Given the description of an element on the screen output the (x, y) to click on. 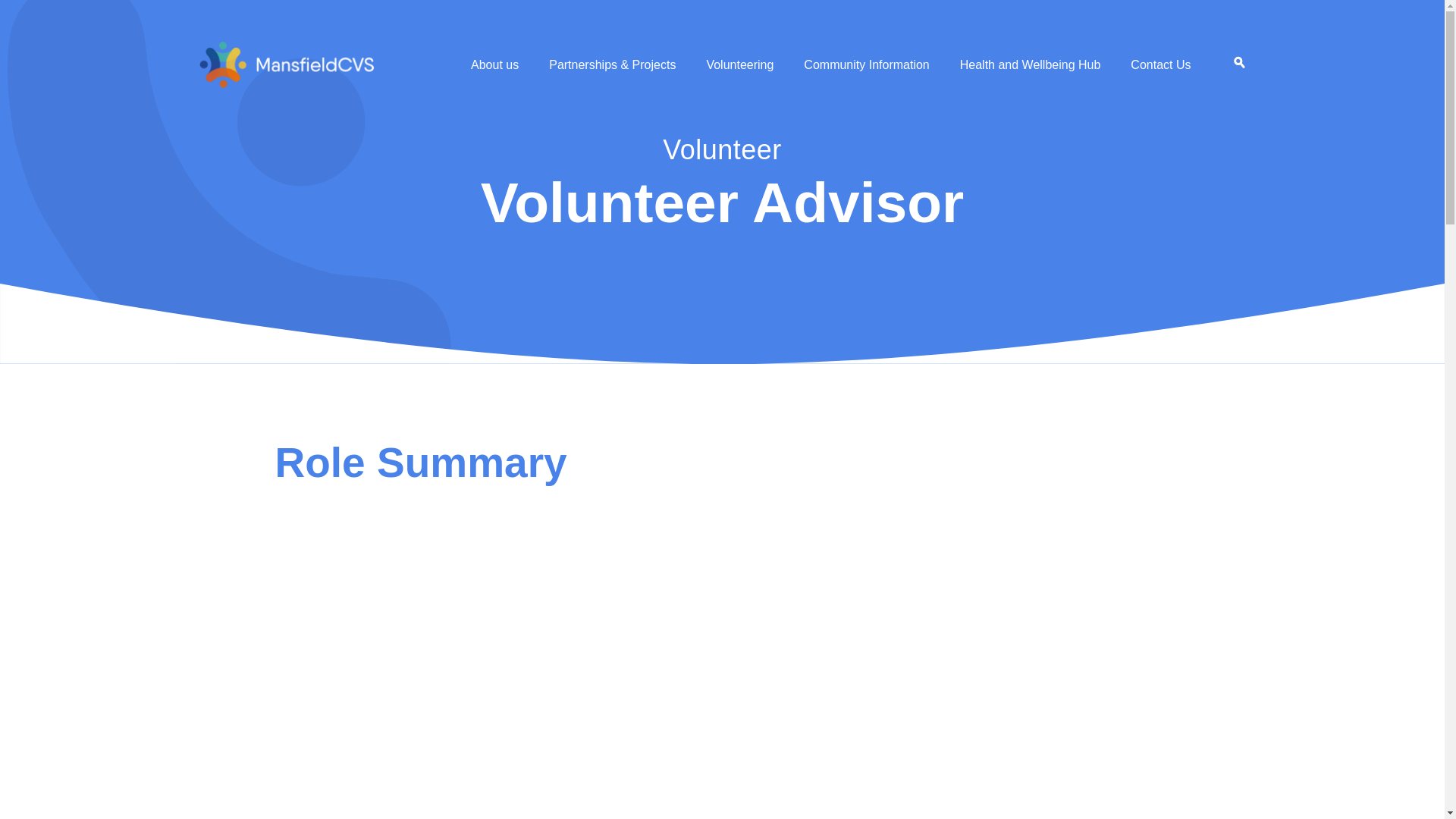
Community Information (865, 65)
Volunteering (739, 65)
Health and Wellbeing Hub (1029, 65)
Contact Us (1161, 65)
About us (494, 65)
Submit Request (480, 737)
